Given the description of an element on the screen output the (x, y) to click on. 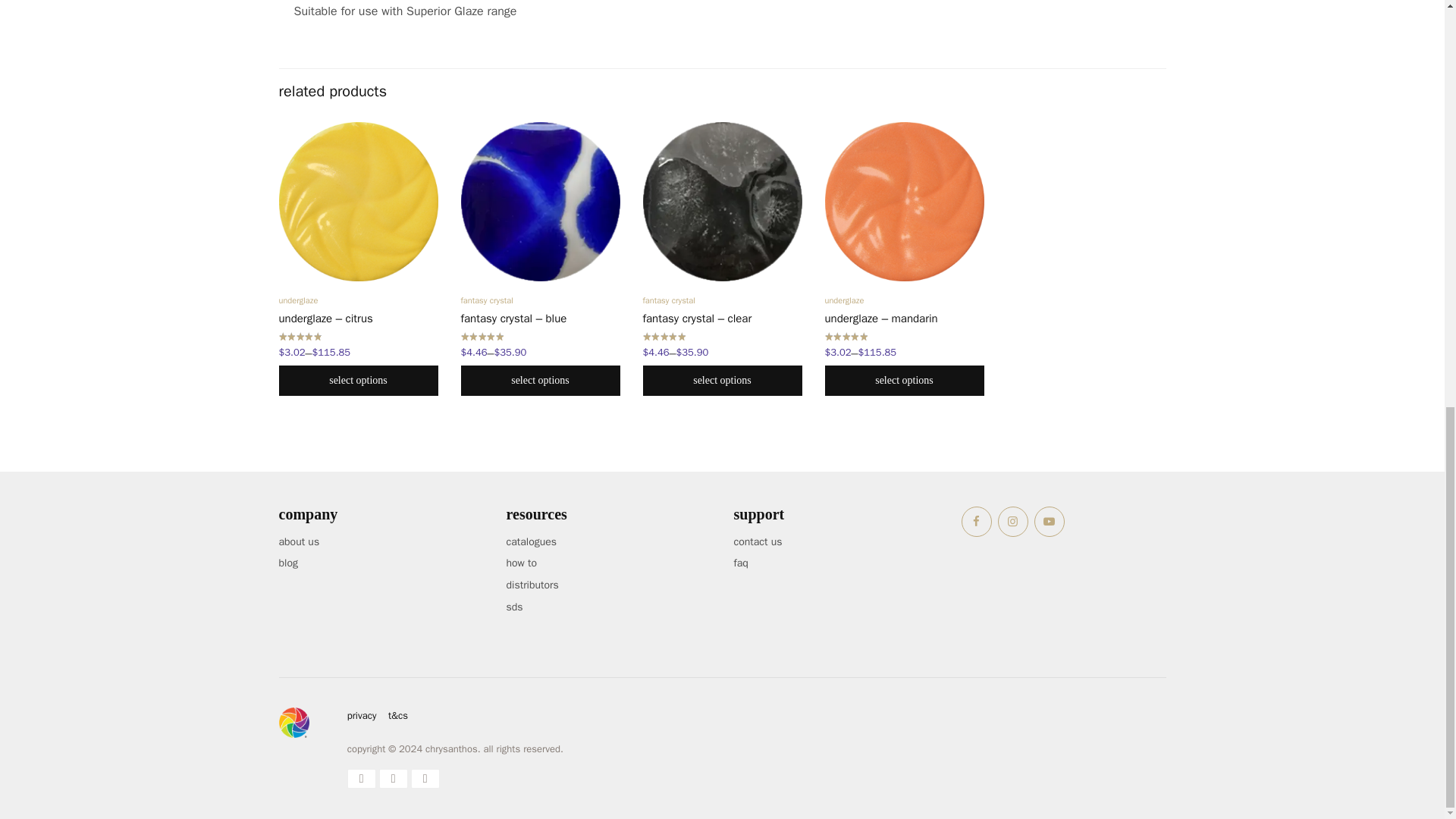
Chrysanthos (293, 722)
